Given the description of an element on the screen output the (x, y) to click on. 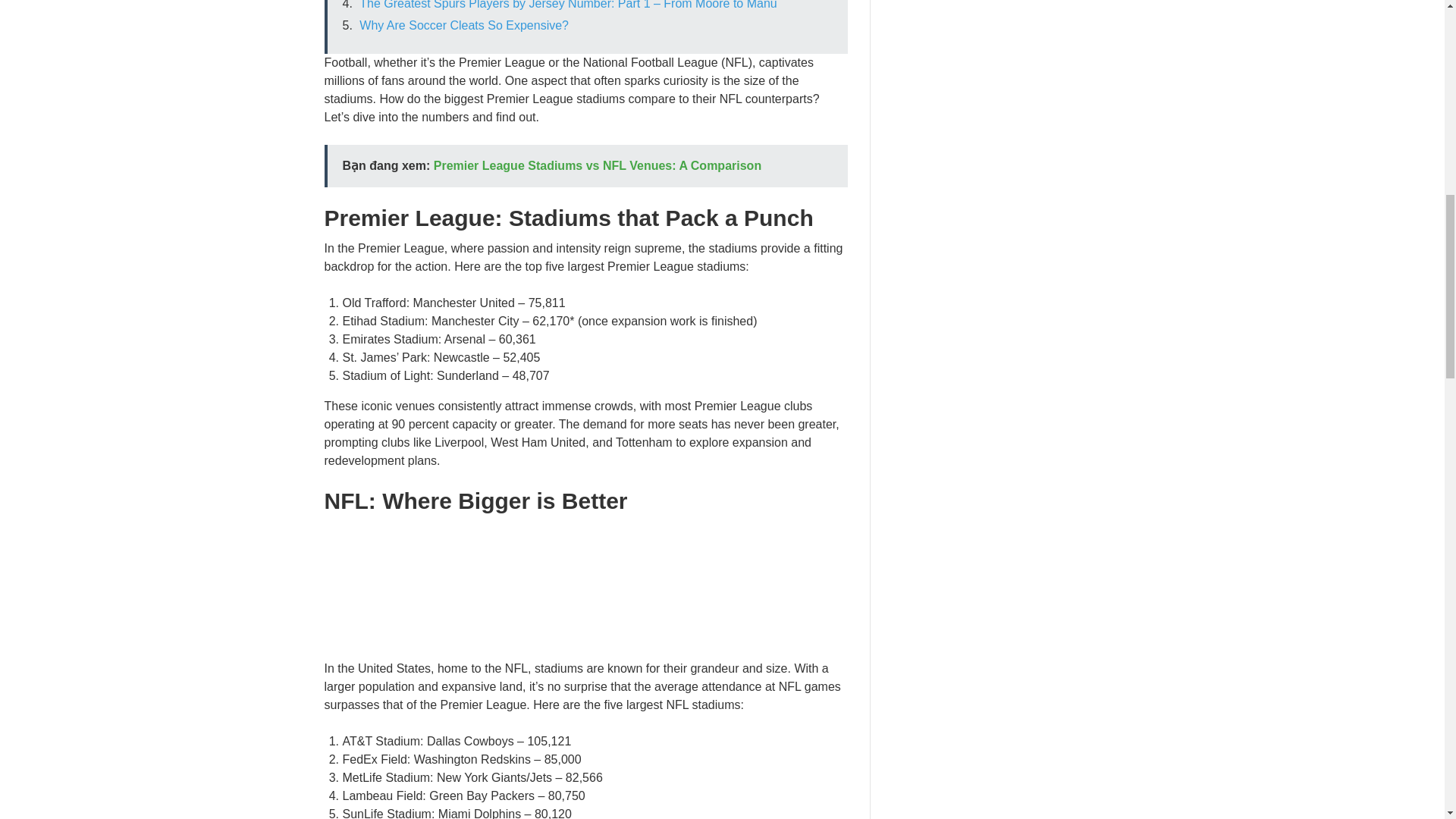
Why Are Soccer Cleats So Expensive? (464, 24)
Premier League Stadiums vs NFL Venues: A Comparison (597, 164)
Why Are Soccer Cleats So Expensive? (464, 24)
